Given the description of an element on the screen output the (x, y) to click on. 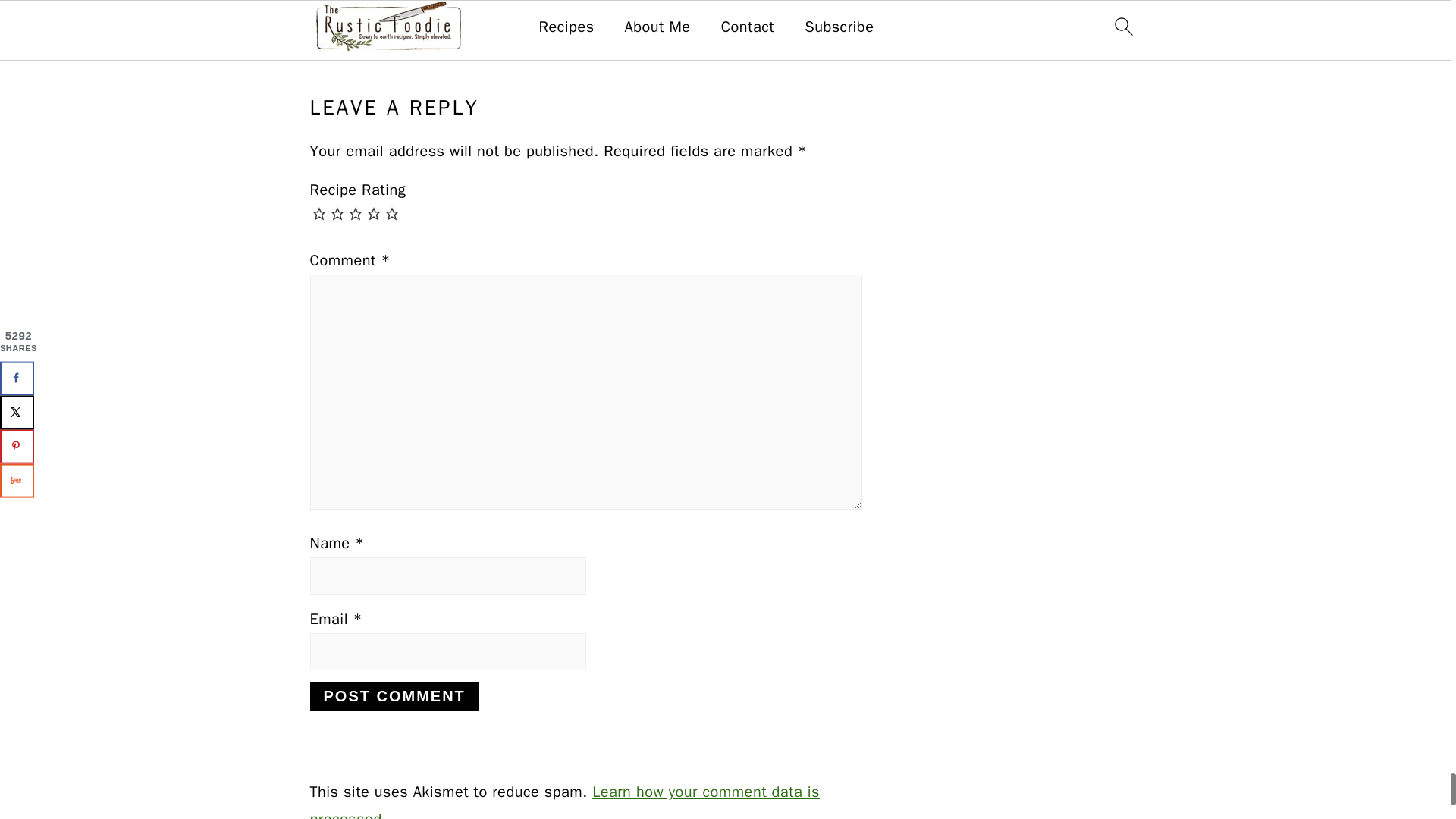
Post Comment (393, 696)
